Given the description of an element on the screen output the (x, y) to click on. 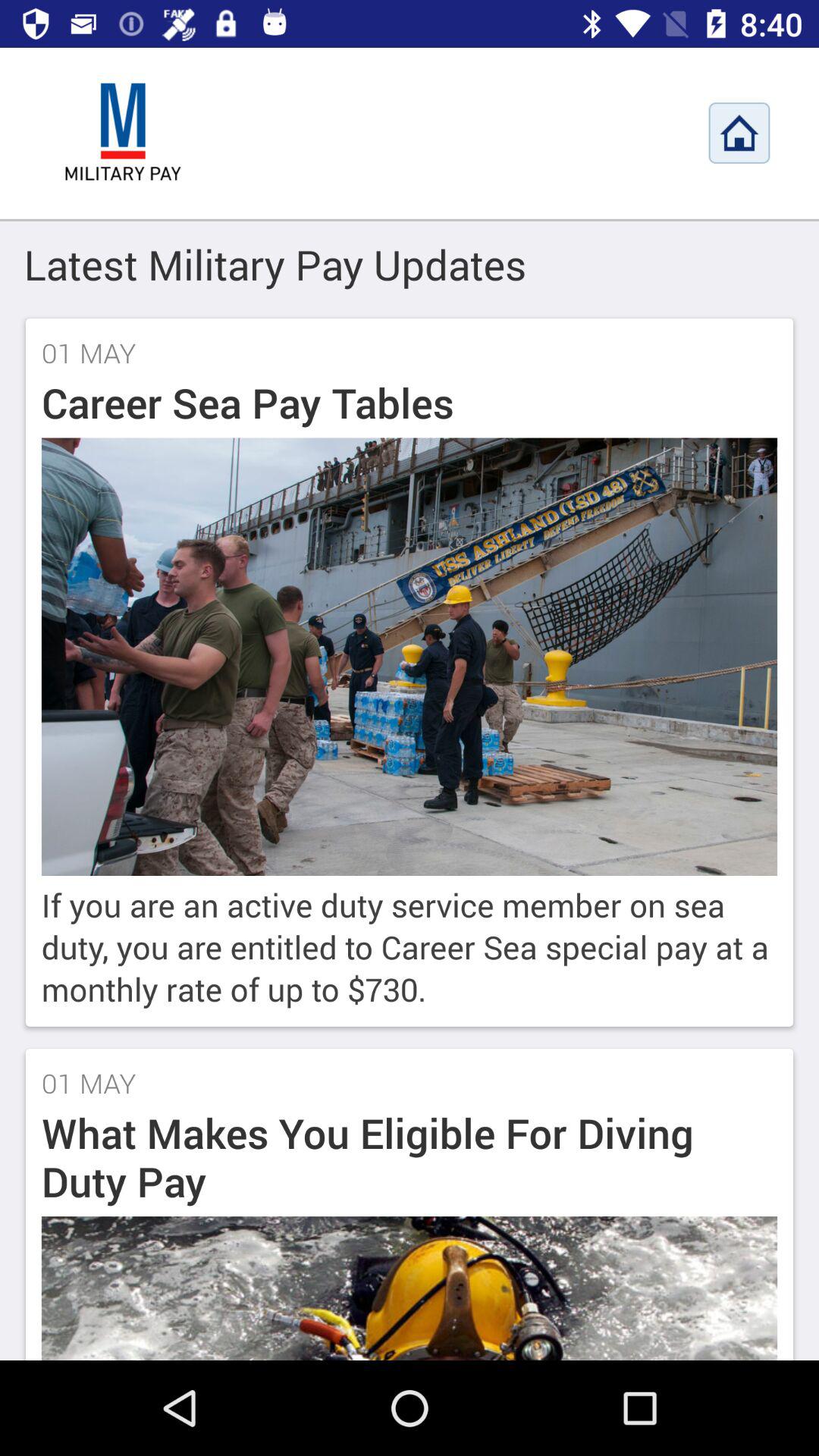
home (739, 132)
